Given the description of an element on the screen output the (x, y) to click on. 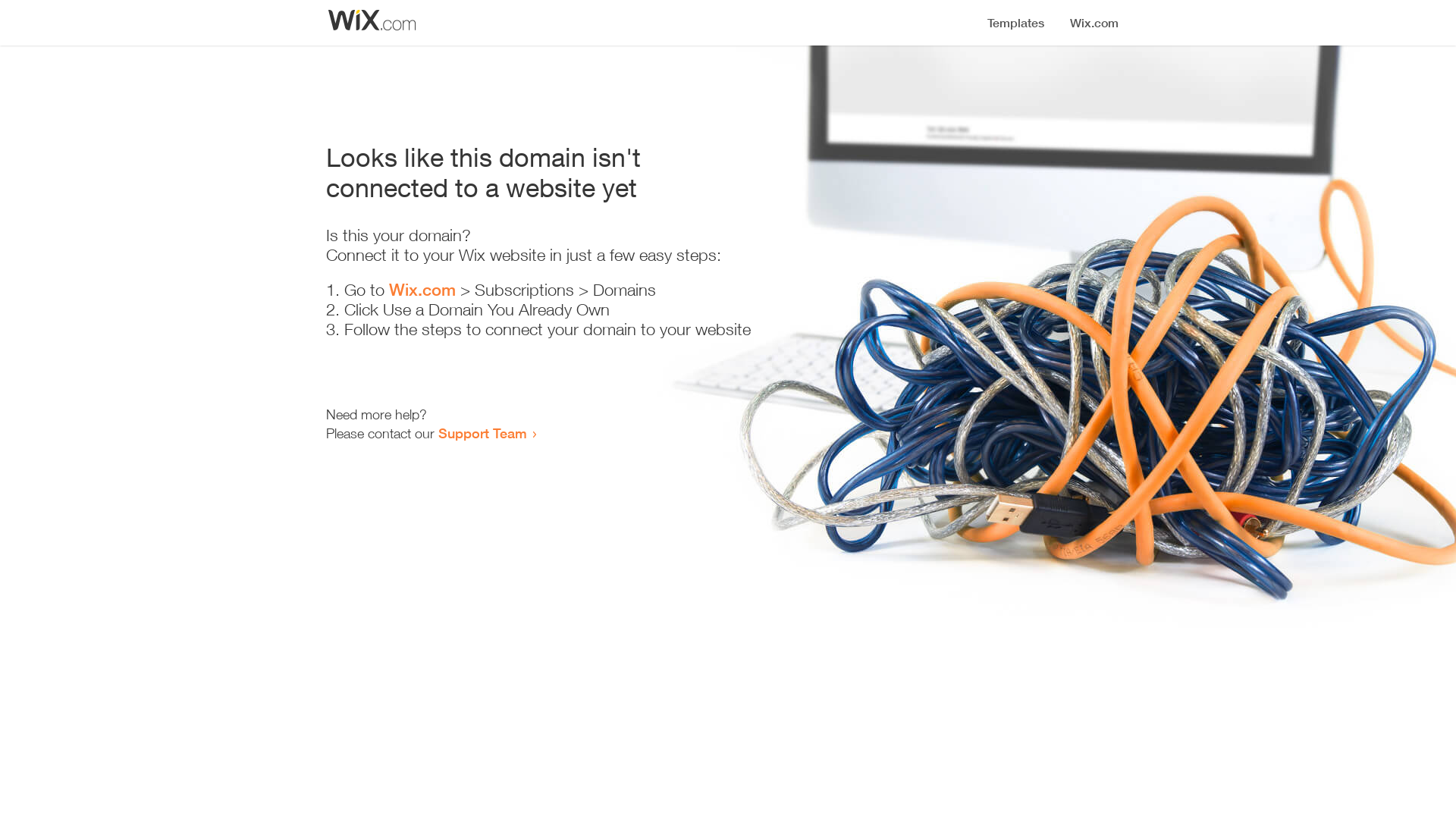
Wix.com Element type: text (422, 289)
Support Team Element type: text (482, 432)
